Given the description of an element on the screen output the (x, y) to click on. 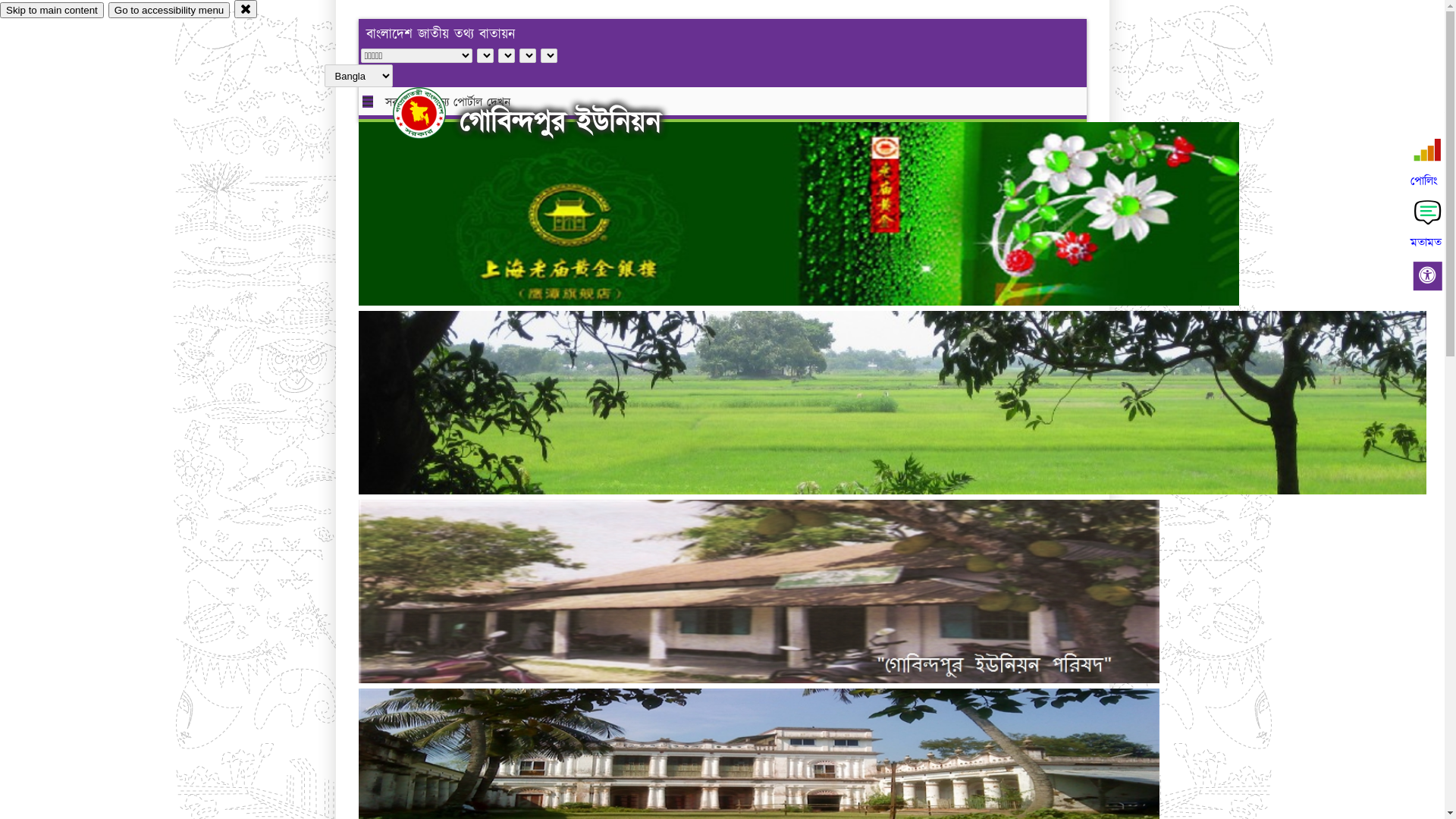
close Element type: hover (245, 9)
Go to accessibility menu Element type: text (168, 10)
Skip to main content Element type: text (51, 10)

                
             Element type: hover (431, 112)
